Given the description of an element on the screen output the (x, y) to click on. 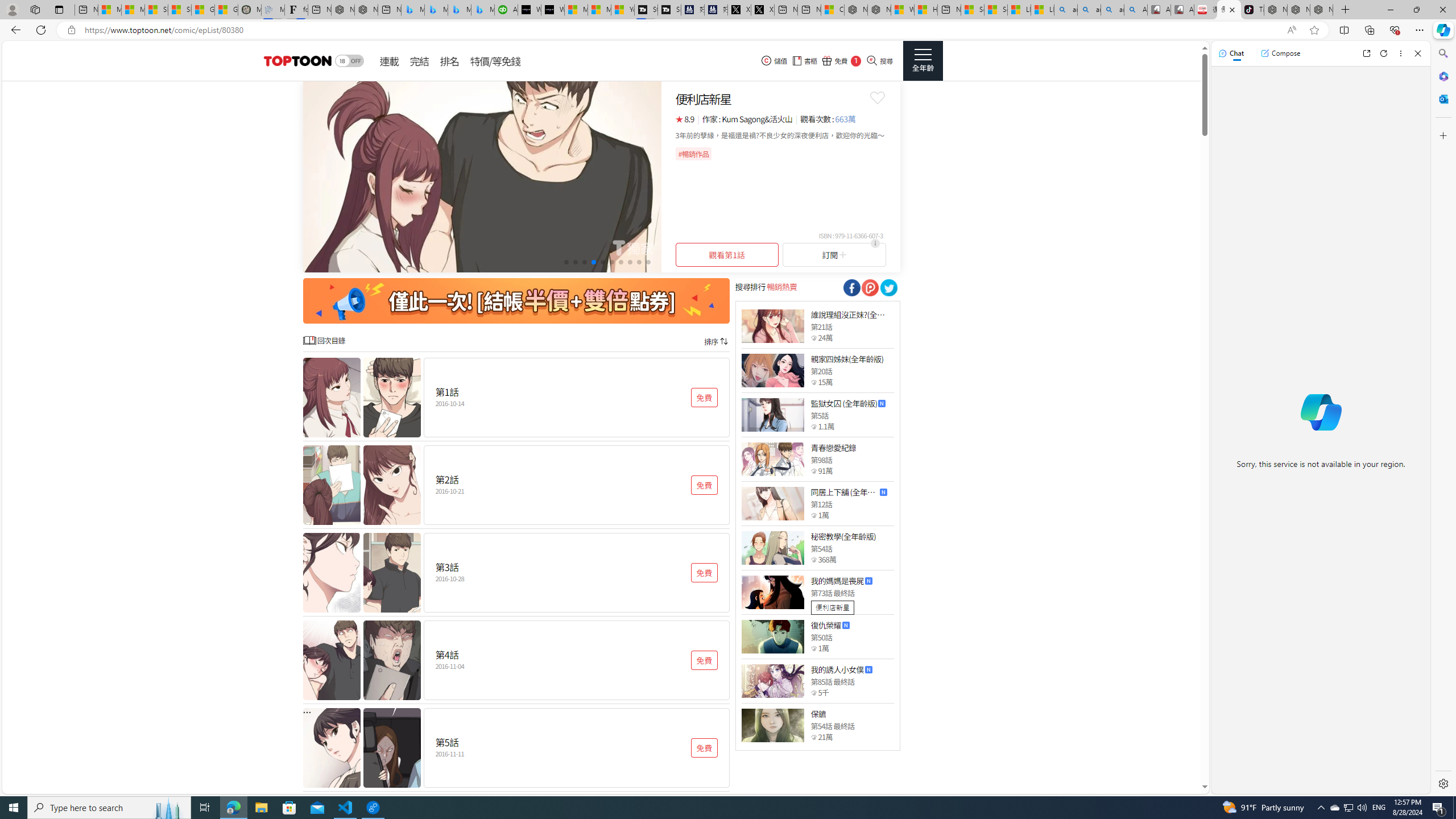
Go to slide 2 (575, 261)
Class: side_menu_btn actionRightMenuBtn (922, 60)
Go to slide 9 (639, 261)
Side bar (1443, 418)
